Given the description of an element on the screen output the (x, y) to click on. 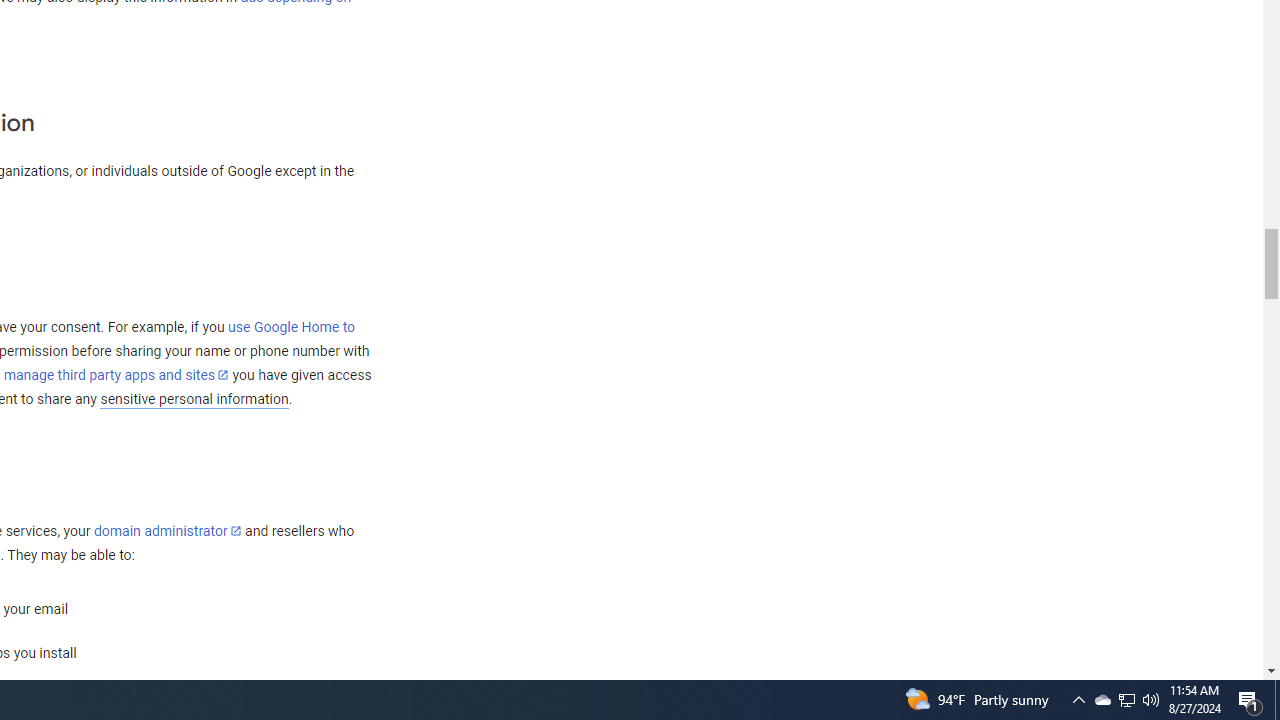
sensitive personal information (194, 399)
domain administrator (167, 531)
